Given the description of an element on the screen output the (x, y) to click on. 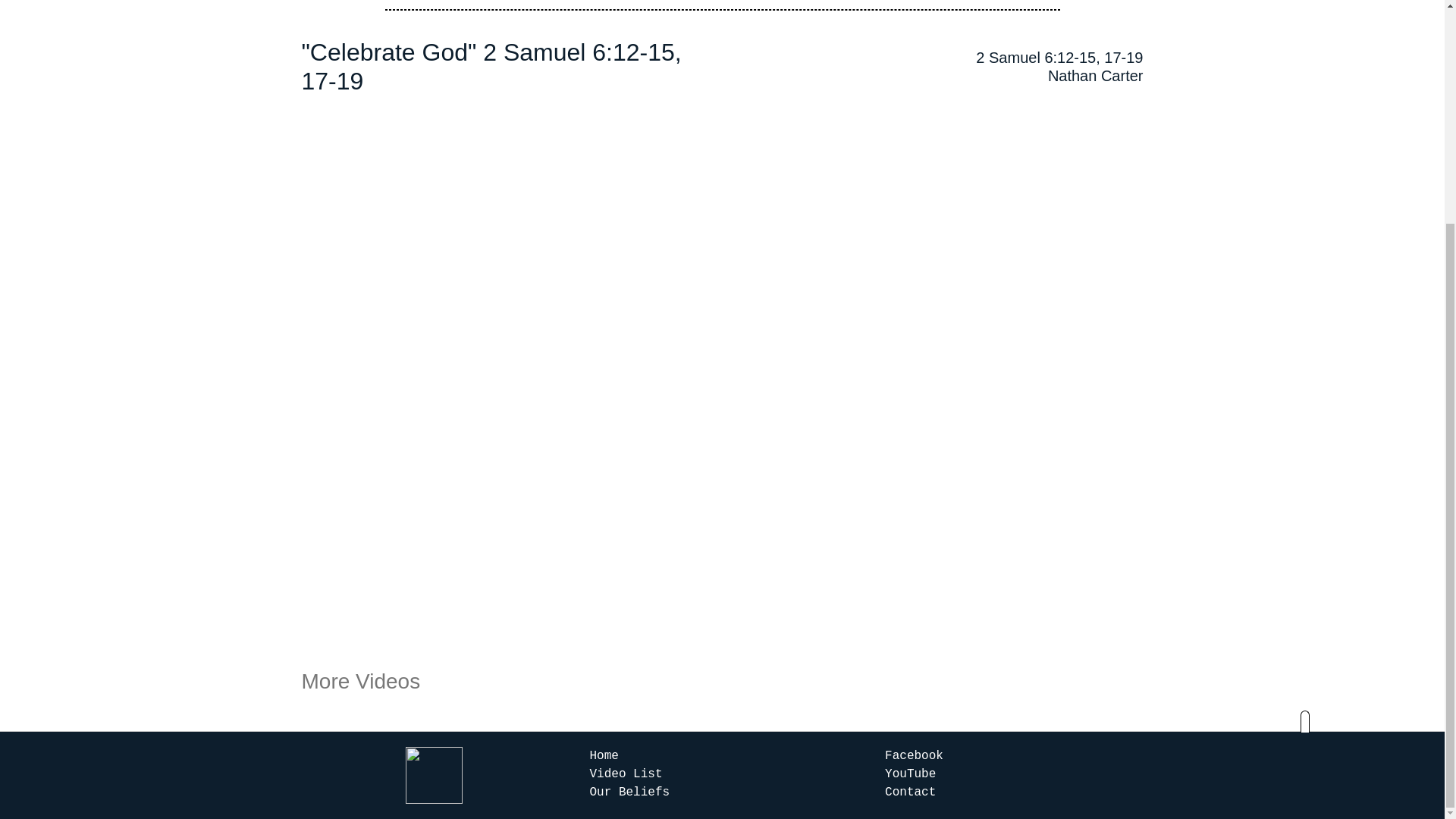
 Facebook (909, 755)
 YouTube (906, 774)
Home (603, 755)
 Contact (906, 792)
Video List (625, 774)
Our Beliefs (629, 792)
More Videos (360, 680)
